Given the description of an element on the screen output the (x, y) to click on. 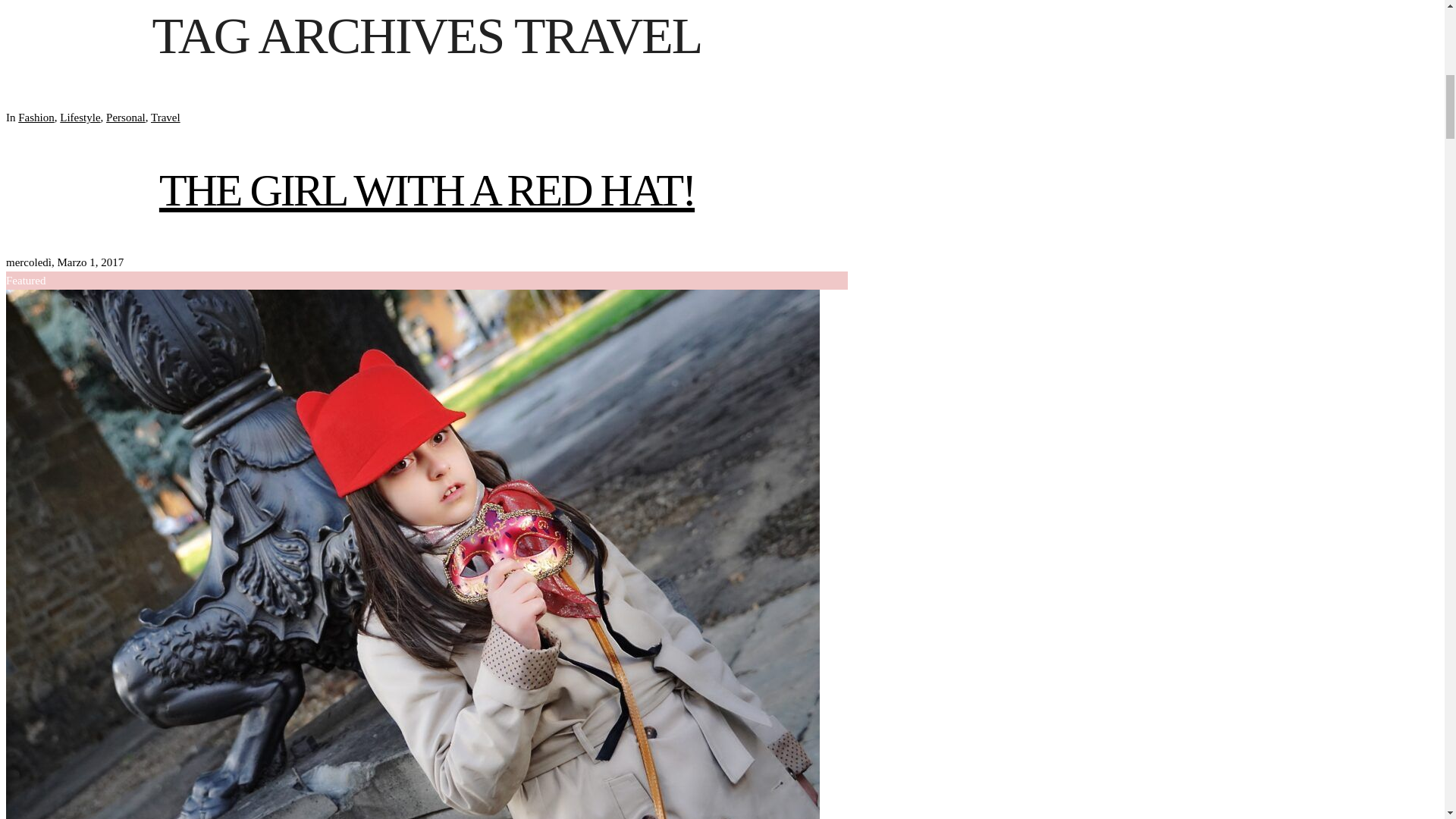
THE GIRL WITH A RED HAT! (426, 190)
Travel (165, 117)
Lifestyle (79, 117)
Personal (125, 117)
Permalink THE GIRL WITH A RED HAT! (426, 190)
Fashion (36, 117)
